Given the description of an element on the screen output the (x, y) to click on. 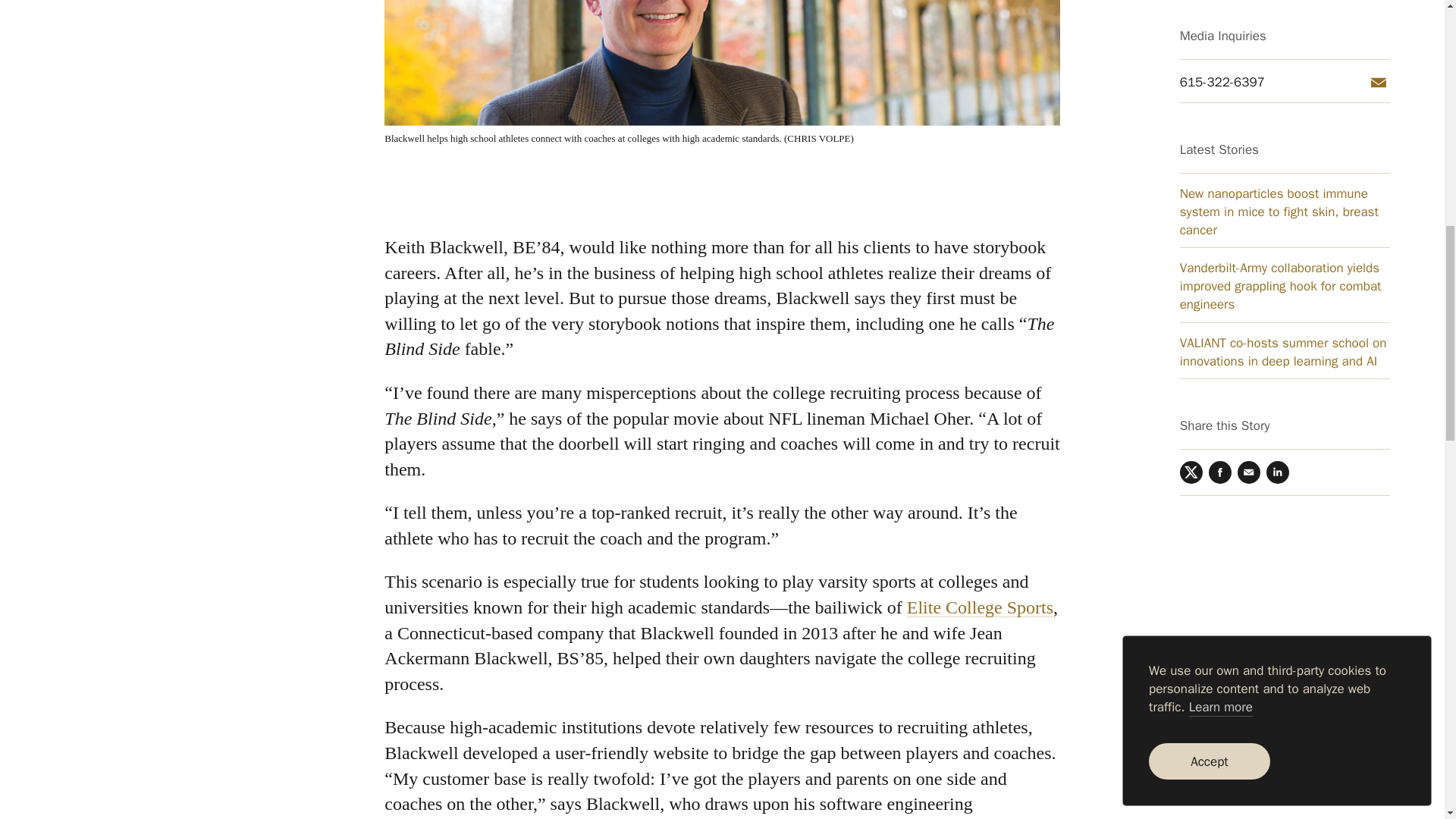
Elite College Sports (979, 607)
Email (1248, 59)
Facebook (1219, 59)
Twitter (1190, 59)
LinkedIn (1277, 59)
